Given the description of an element on the screen output the (x, y) to click on. 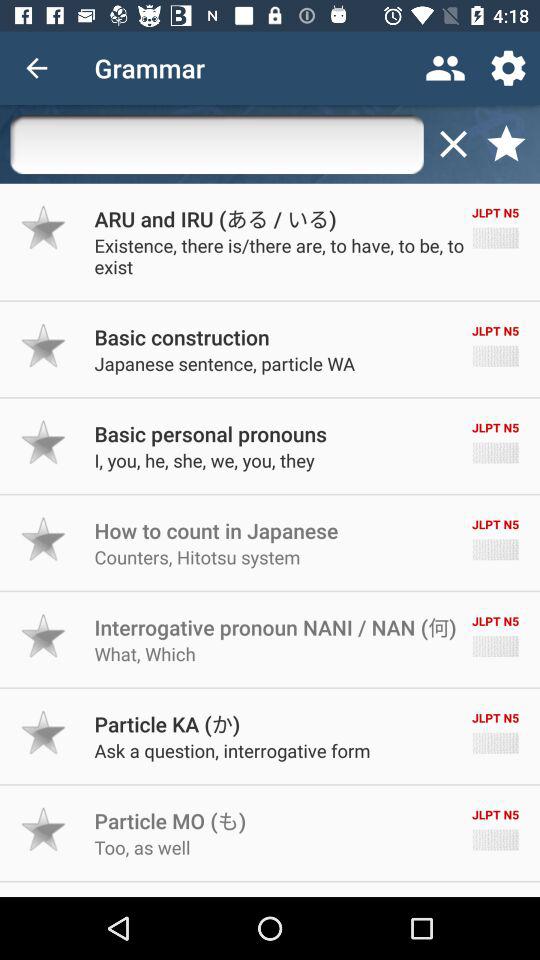
toggle to favorite (44, 636)
